Given the description of an element on the screen output the (x, y) to click on. 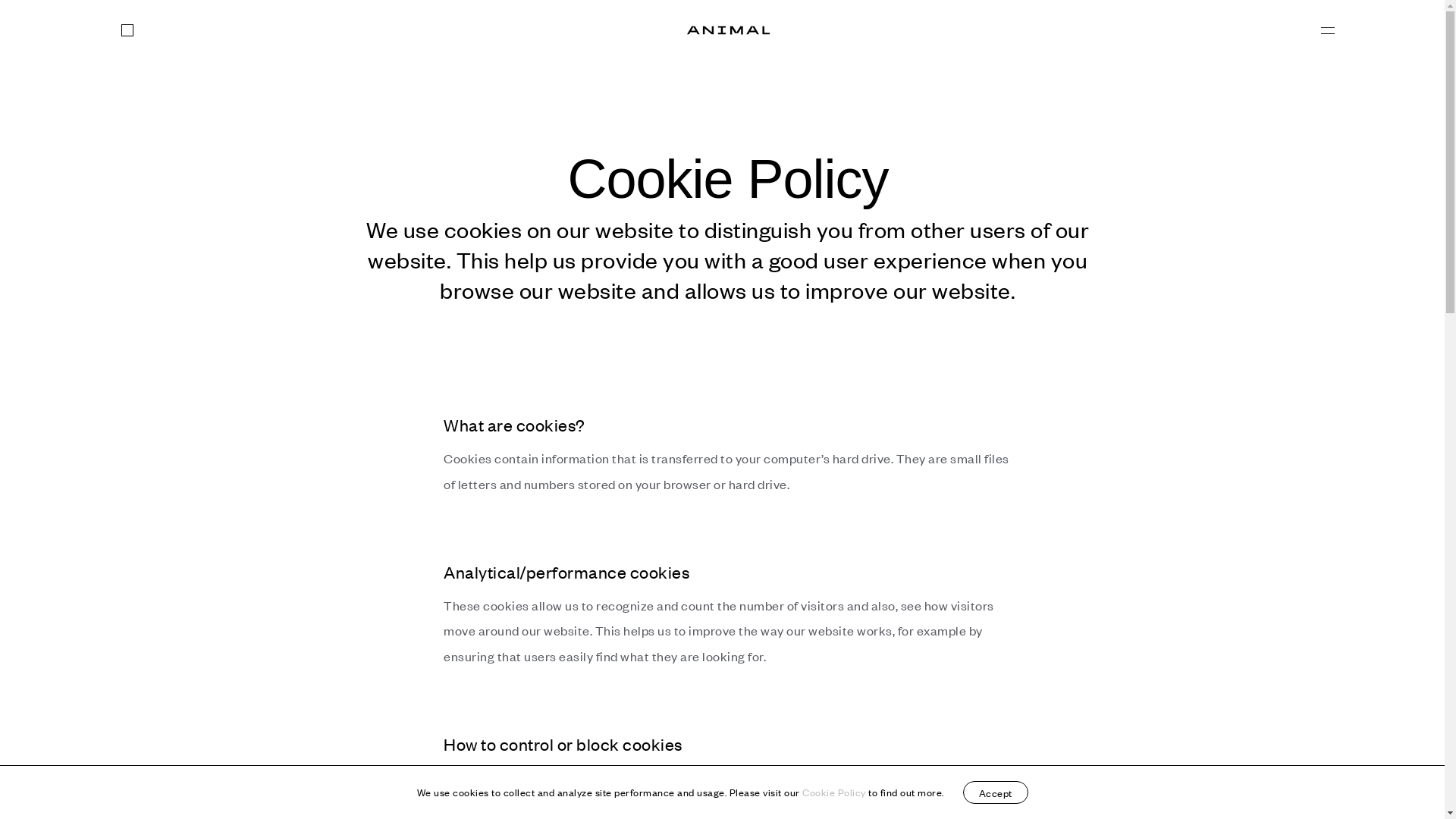
Accept Element type: text (995, 792)
Cookie Policy Element type: text (834, 791)
